Given the description of an element on the screen output the (x, y) to click on. 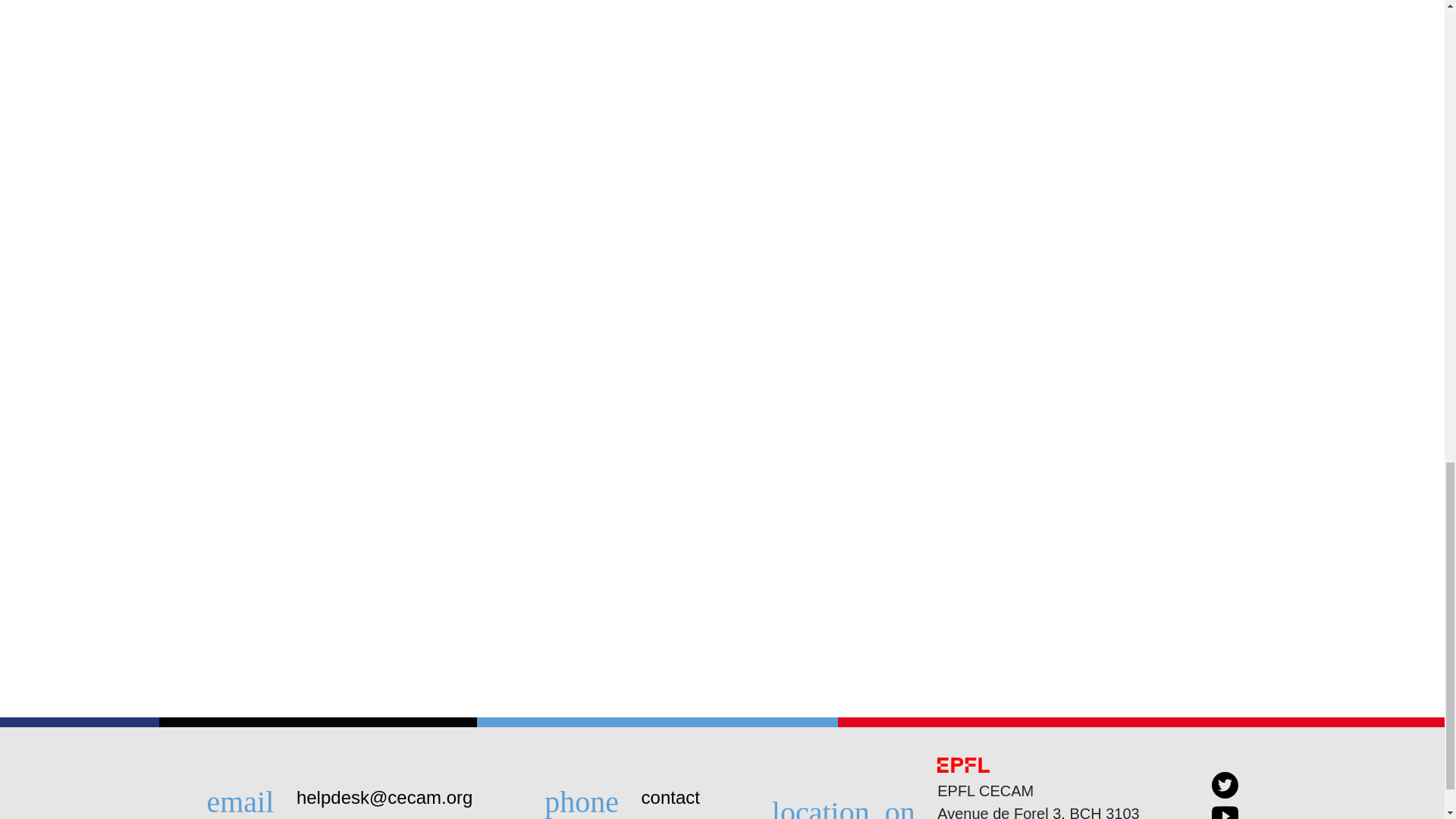
email (249, 797)
phone (590, 797)
YouTube video player (418, 71)
contact (671, 797)
